Given the description of an element on the screen output the (x, y) to click on. 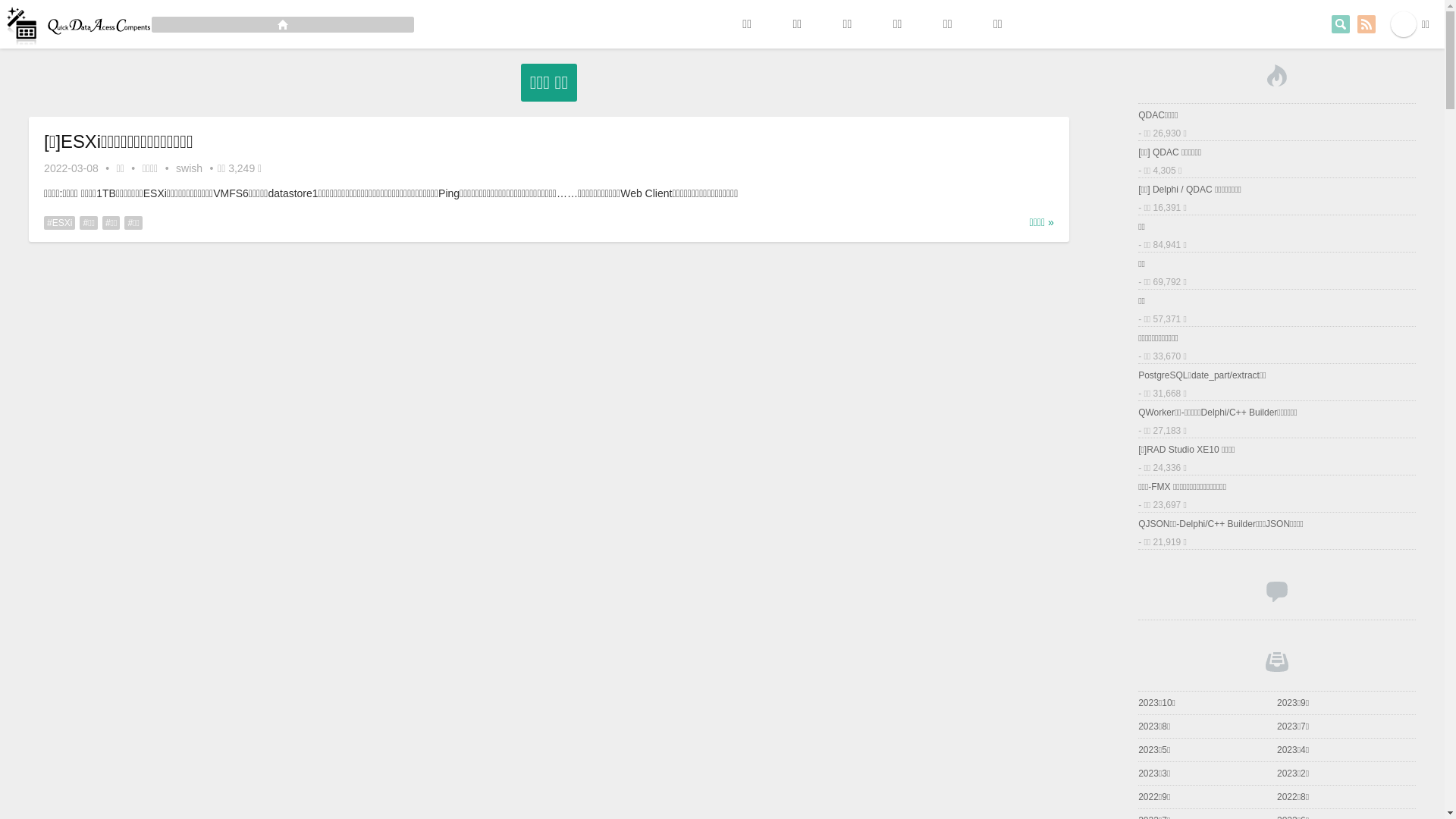
swish Element type: text (188, 168)
RSS Element type: hover (1366, 24)
ESXi Element type: text (59, 222)
2022-03-08 Element type: text (70, 168)
